Given the description of an element on the screen output the (x, y) to click on. 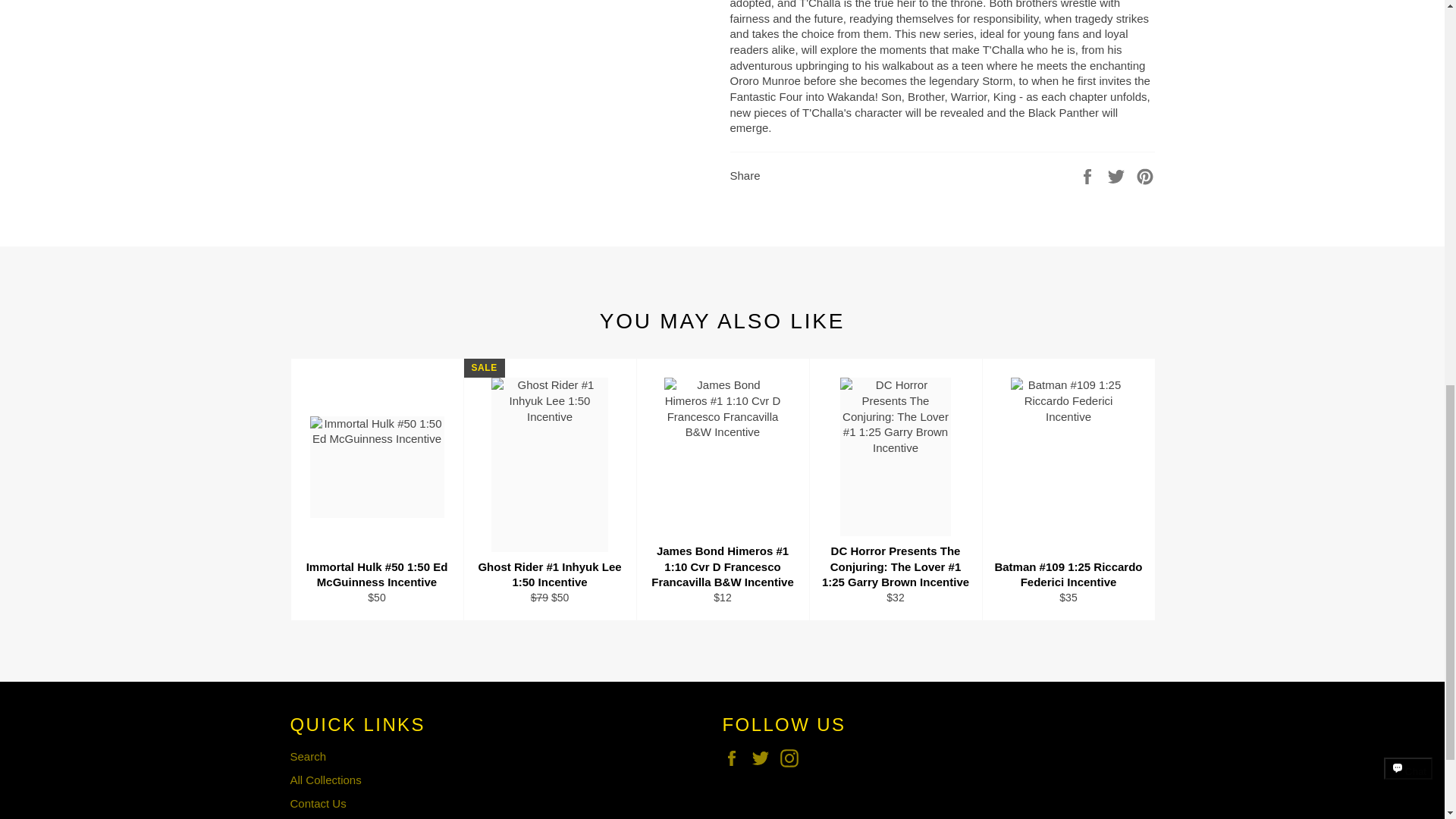
The Vault Comix on Facebook (735, 758)
Share on Facebook (1088, 174)
The Vault Comix on Twitter (764, 758)
The Vault Comix on Instagram (793, 758)
Tweet on Twitter (1117, 174)
Pin on Pinterest (1144, 174)
Share on Facebook (1088, 174)
